Given the description of an element on the screen output the (x, y) to click on. 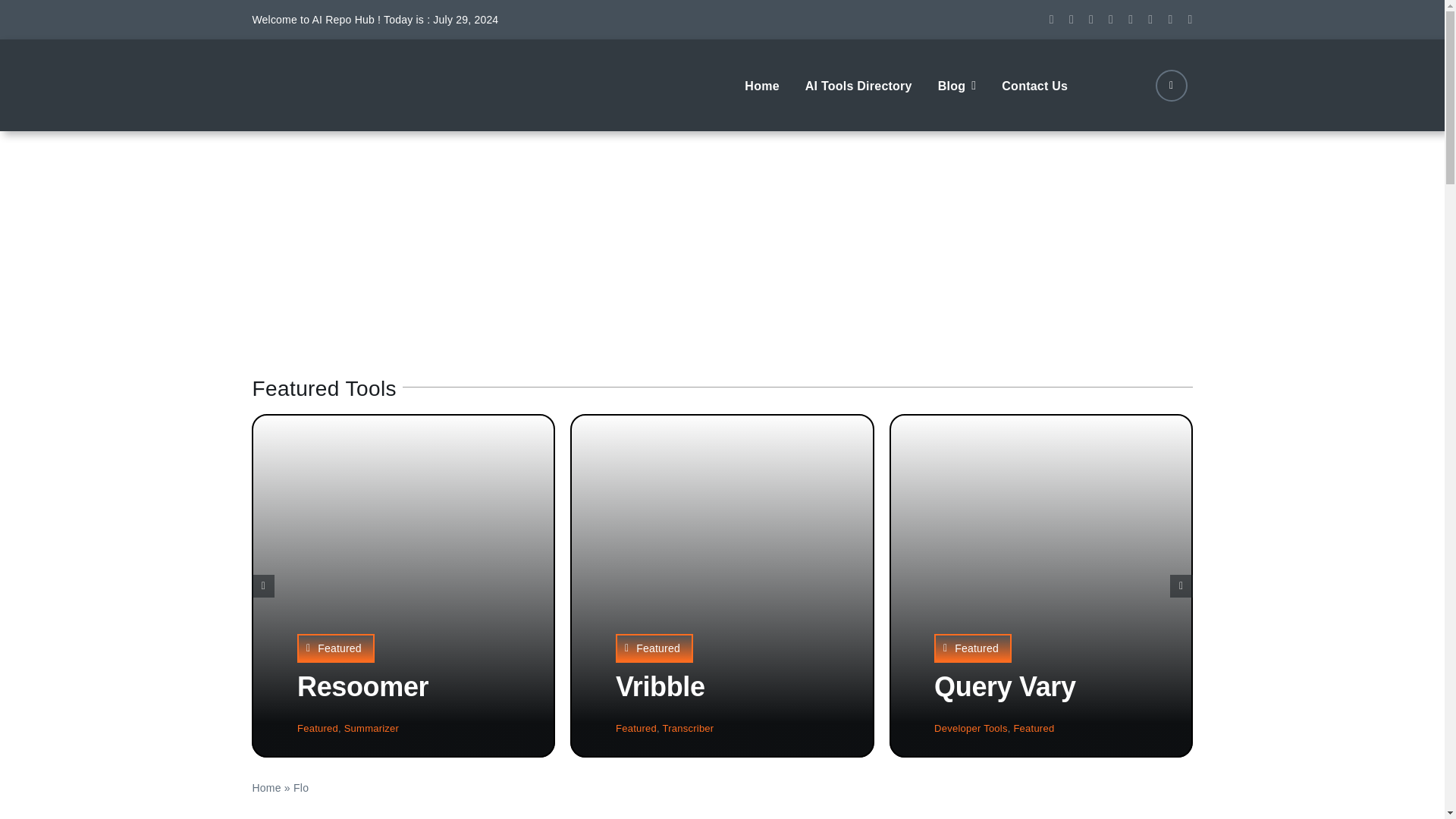
Featured (335, 647)
Vribble (659, 685)
Featured (635, 727)
AI Tools Directory (858, 84)
Featured (972, 647)
Contact Us (1034, 84)
Transcriber (688, 727)
Resoomer (362, 685)
Query Vary (1004, 685)
Developer Tools (970, 727)
Summarizer (370, 727)
Featured (317, 727)
Featured (654, 647)
Featured (1033, 727)
